Given the description of an element on the screen output the (x, y) to click on. 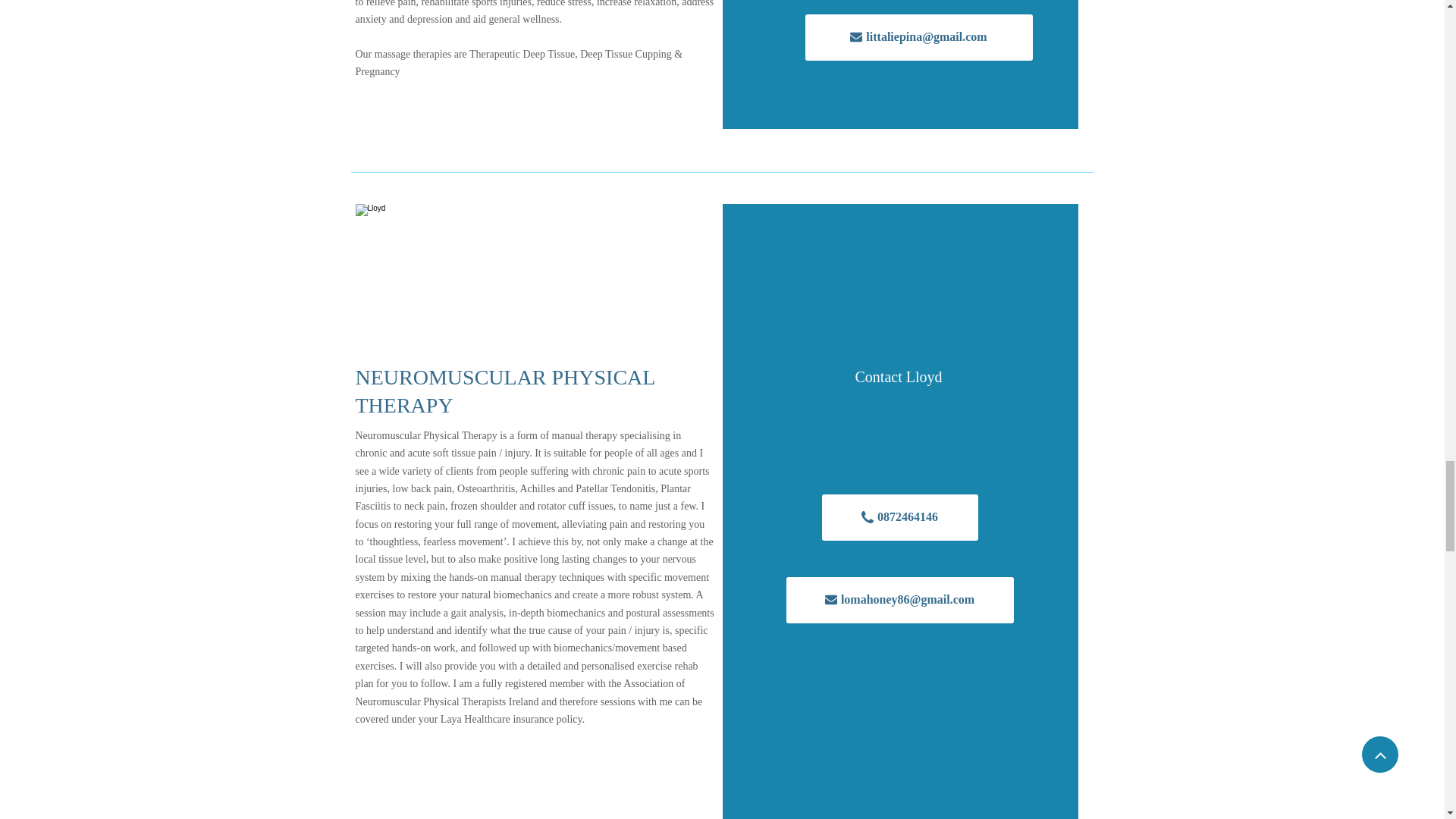
0872464146 (900, 517)
